Given the description of an element on the screen output the (x, y) to click on. 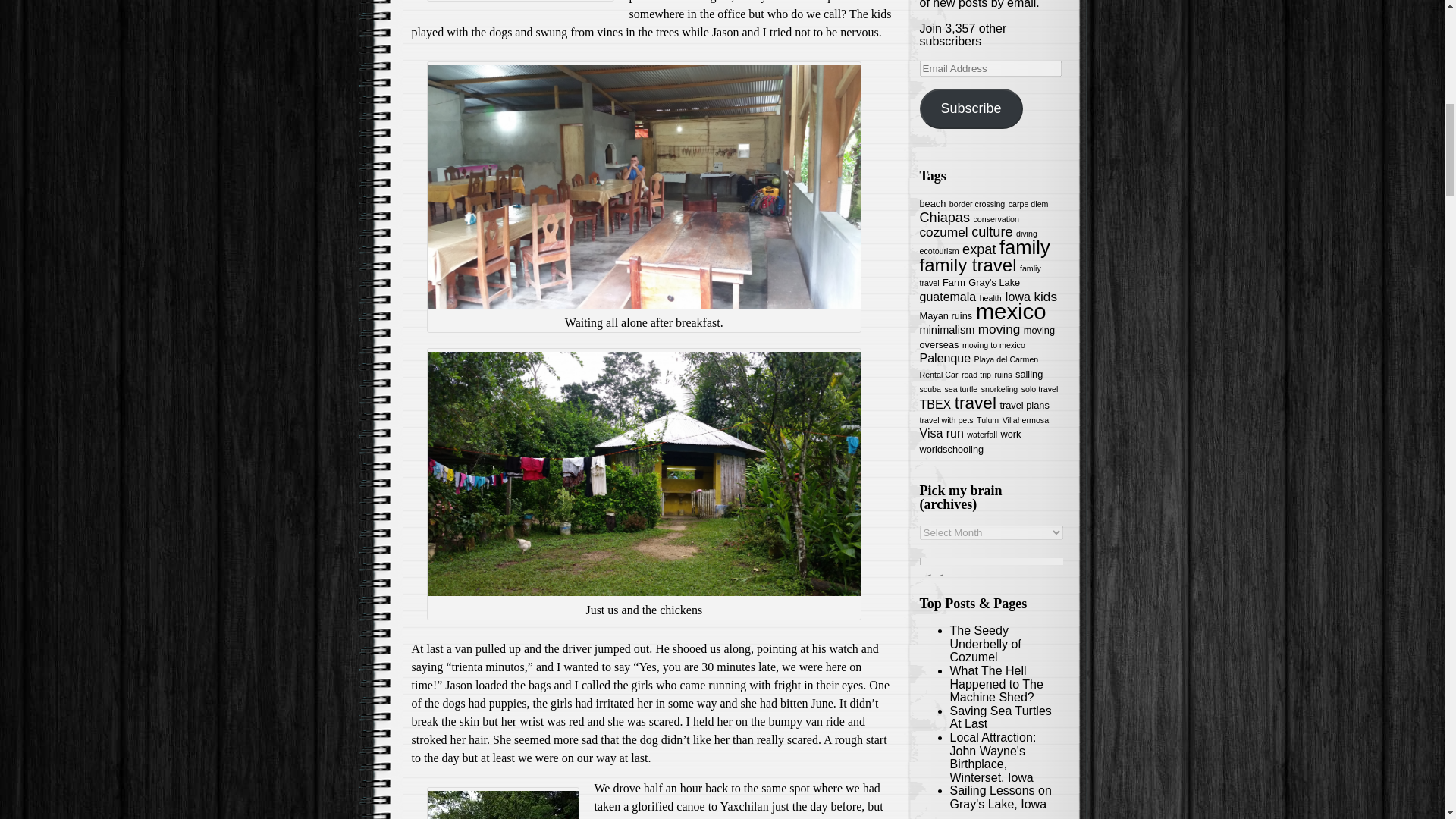
beach (931, 203)
carpe diem (1028, 203)
Subscribe (970, 108)
conservation (994, 218)
diving (1026, 233)
Chiapas (943, 217)
culture (991, 231)
border crossing (976, 203)
cozumel (943, 231)
